Given the description of an element on the screen output the (x, y) to click on. 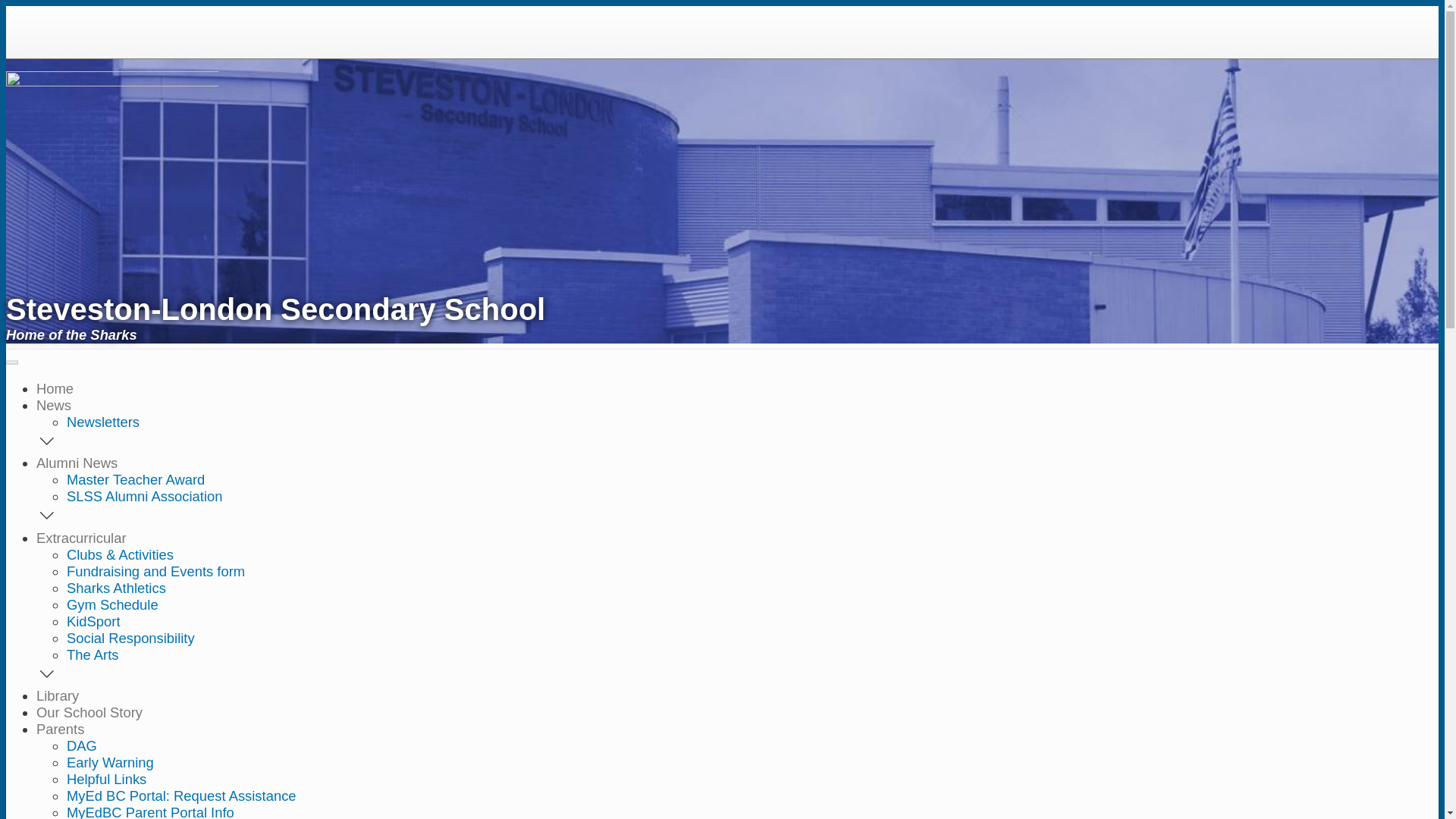
Clubs & Activities Element type: text (119, 554)
Fundraising and Events form Element type: text (155, 571)
Master Teacher Award Element type: text (135, 479)
District Logo Element type: text (46, 18)
The Arts Element type: text (92, 654)
Social Responsibility Element type: text (130, 638)
KidSport Element type: text (93, 621)
Alumni News Element type: text (76, 462)
SLSS Alumni Association Element type: text (144, 496)
Helpful Links Element type: text (106, 779)
Sharks Athletics Element type: text (116, 588)
Steveston-London Secondary School Element type: hover (112, 81)
DAG Element type: text (81, 745)
Our School Story Element type: text (89, 712)
Library Element type: text (57, 695)
Gym Schedule Element type: text (112, 604)
MyEd BC Portal: Request Assistance Element type: text (181, 795)
Parents Element type: text (60, 729)
Steveston-London Secondary School Element type: text (536, 317)
Newsletters Element type: text (102, 421)
Home Element type: text (54, 388)
Early Warning Element type: text (109, 762)
Skip to main content Element type: text (722, 7)
News Element type: text (53, 405)
Extracurricular Element type: text (81, 538)
